Given the description of an element on the screen output the (x, y) to click on. 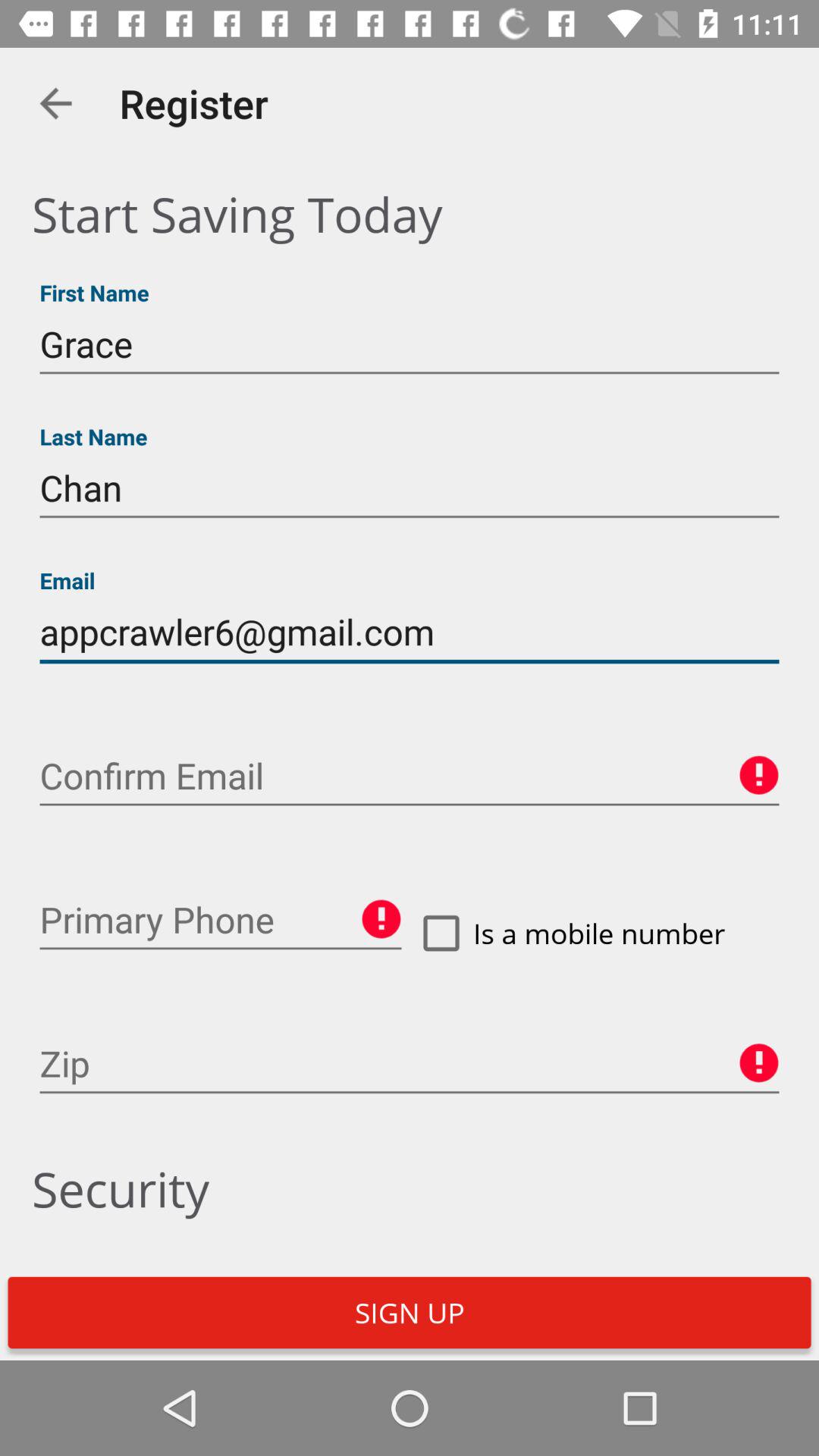
address page (220, 920)
